Given the description of an element on the screen output the (x, y) to click on. 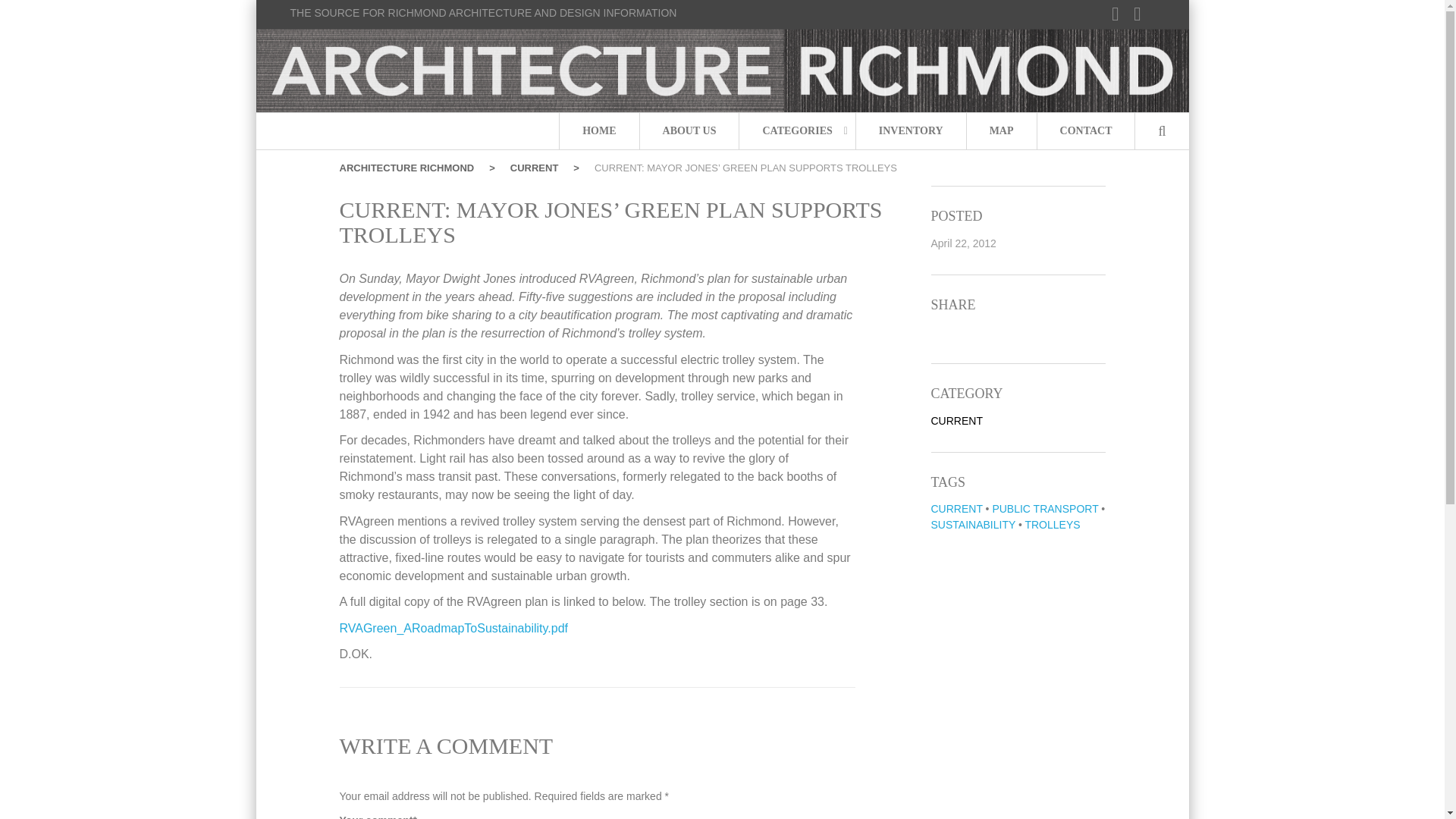
CURRENT (956, 508)
CURRENT (956, 420)
PUBLIC TRANSPORT (1044, 508)
ARCHITECTURE RICHMOND (417, 167)
CURRENT (545, 167)
MAP (1001, 131)
ABOUT US (689, 131)
Go to the Current category archives. (545, 167)
SUSTAINABILITY (973, 524)
TROLLEYS (1052, 524)
